Given the description of an element on the screen output the (x, y) to click on. 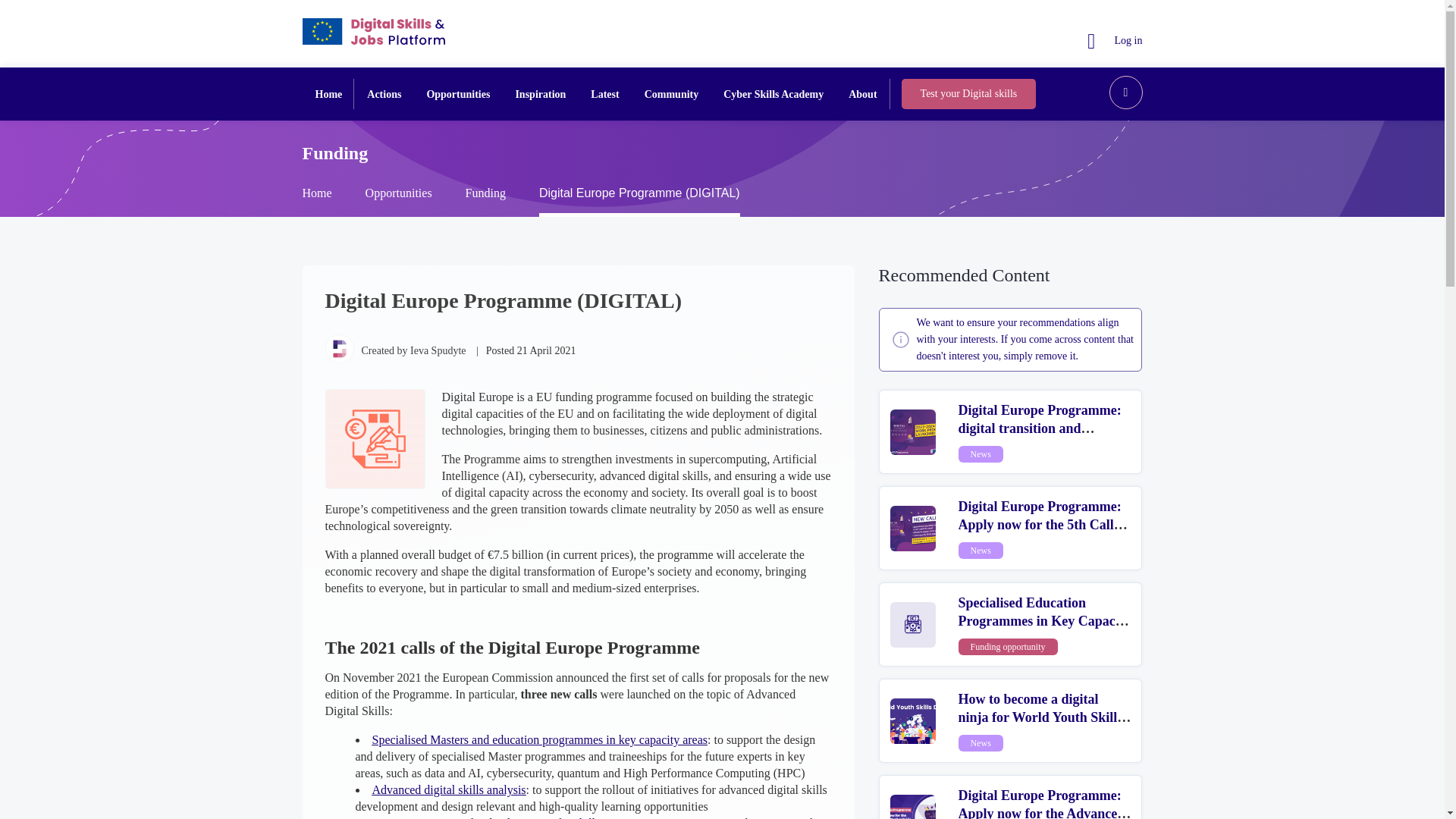
Log in (1114, 40)
Opportunities (457, 93)
Latest (604, 93)
Home (328, 93)
Specialised Education Programmes in Key Capacity Areas (1044, 621)
Actions (384, 93)
Cyber Skills Academy (773, 93)
Digital Europe Programme Work Programme 2023-24 (912, 432)
Community (671, 93)
Inspiration (540, 93)
